Given the description of an element on the screen output the (x, y) to click on. 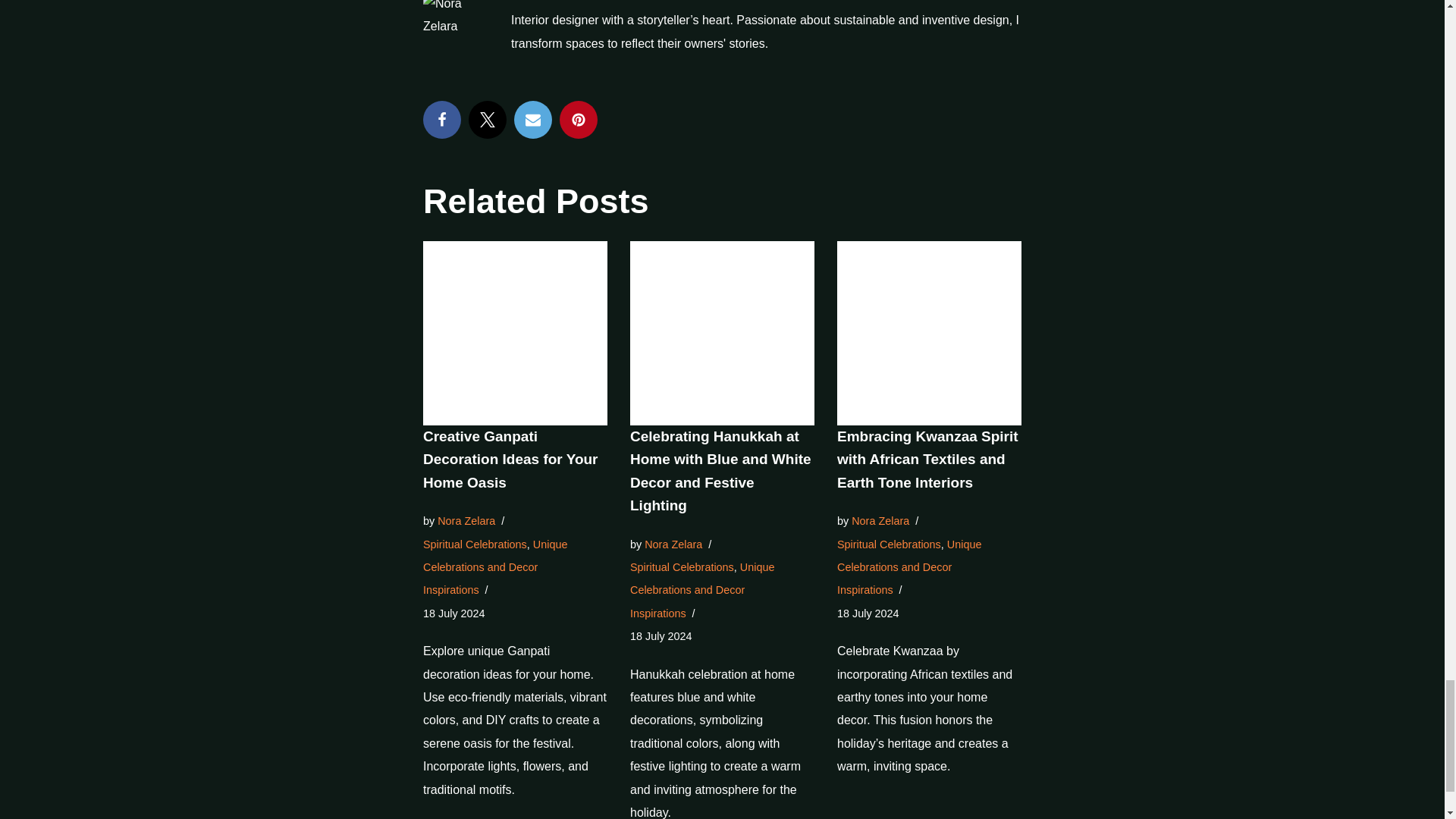
Twitter (487, 119)
Email (532, 119)
Pinterest (577, 119)
Unique Celebrations and Decor Inspirations (495, 567)
Posts by Nora Zelara (879, 521)
Spiritual Celebrations (475, 544)
Nora Zelara (466, 521)
Posts by Nora Zelara (466, 521)
Posts by Nora Zelara (673, 544)
Facebook (442, 119)
Creative Ganpati Decoration Ideas for Your Home Oasis (510, 459)
